Given the description of an element on the screen output the (x, y) to click on. 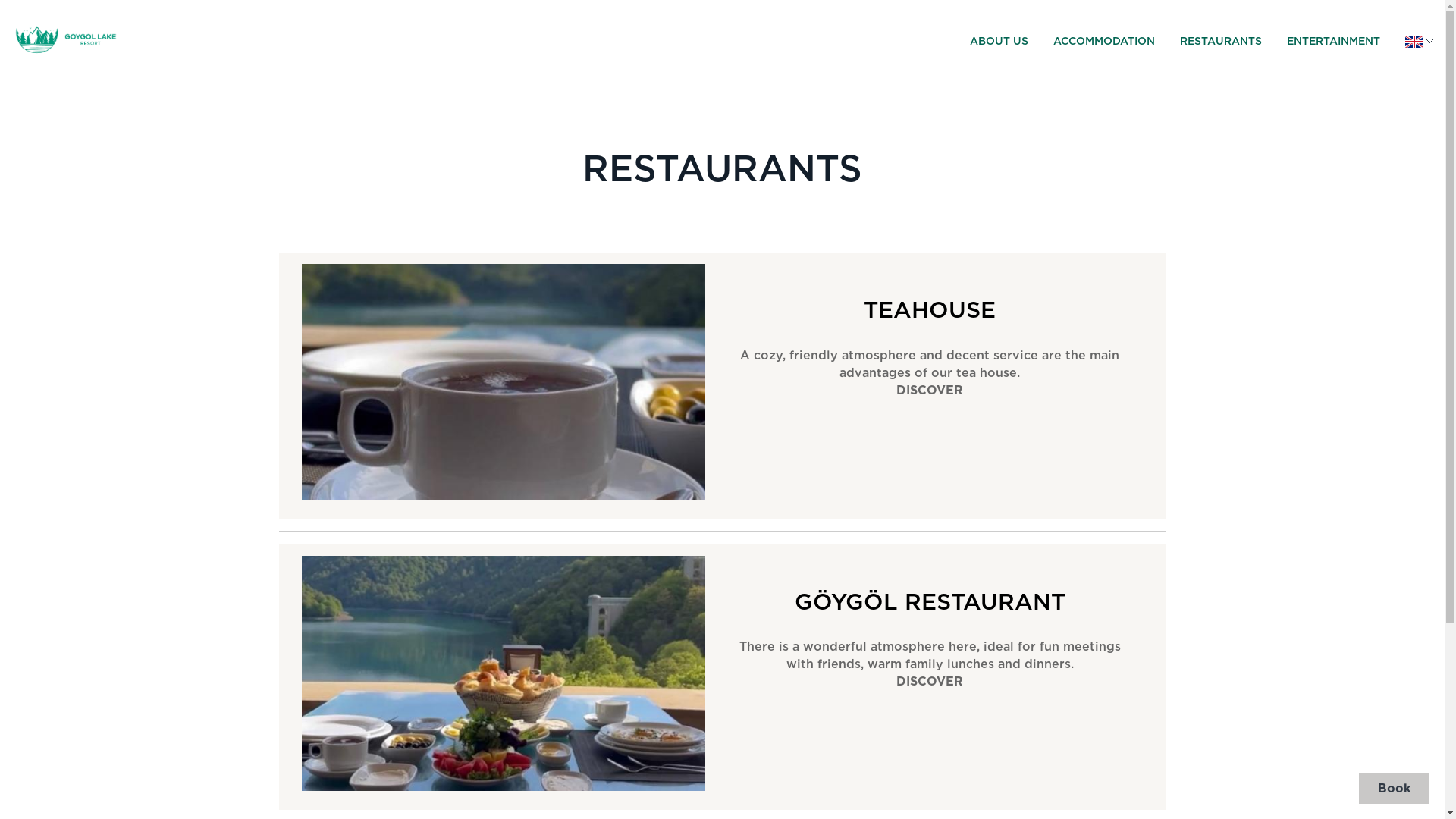
ABOUT US Element type: text (996, 40)
Book Element type: text (1393, 787)
ACCOMMODATION Element type: text (1101, 40)
DISCOVER Element type: text (929, 389)
ENTERTAINMENT Element type: text (1330, 40)
TEAHOUSE Element type: text (929, 309)
RESTAURANTS Element type: text (1217, 40)
DISCOVER Element type: text (929, 681)
